Given the description of an element on the screen output the (x, y) to click on. 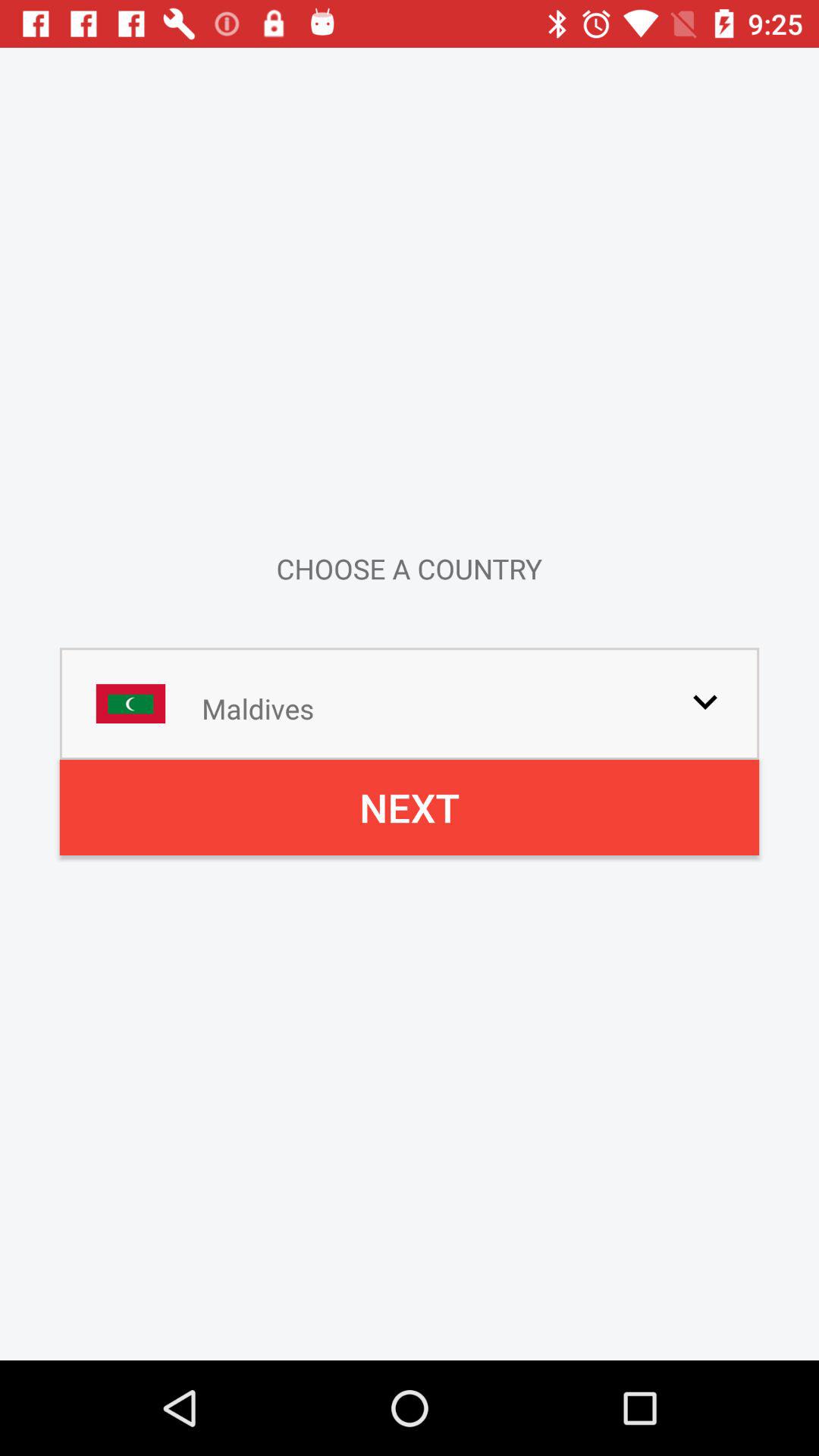
open icon above the next item (705, 701)
